Given the description of an element on the screen output the (x, y) to click on. 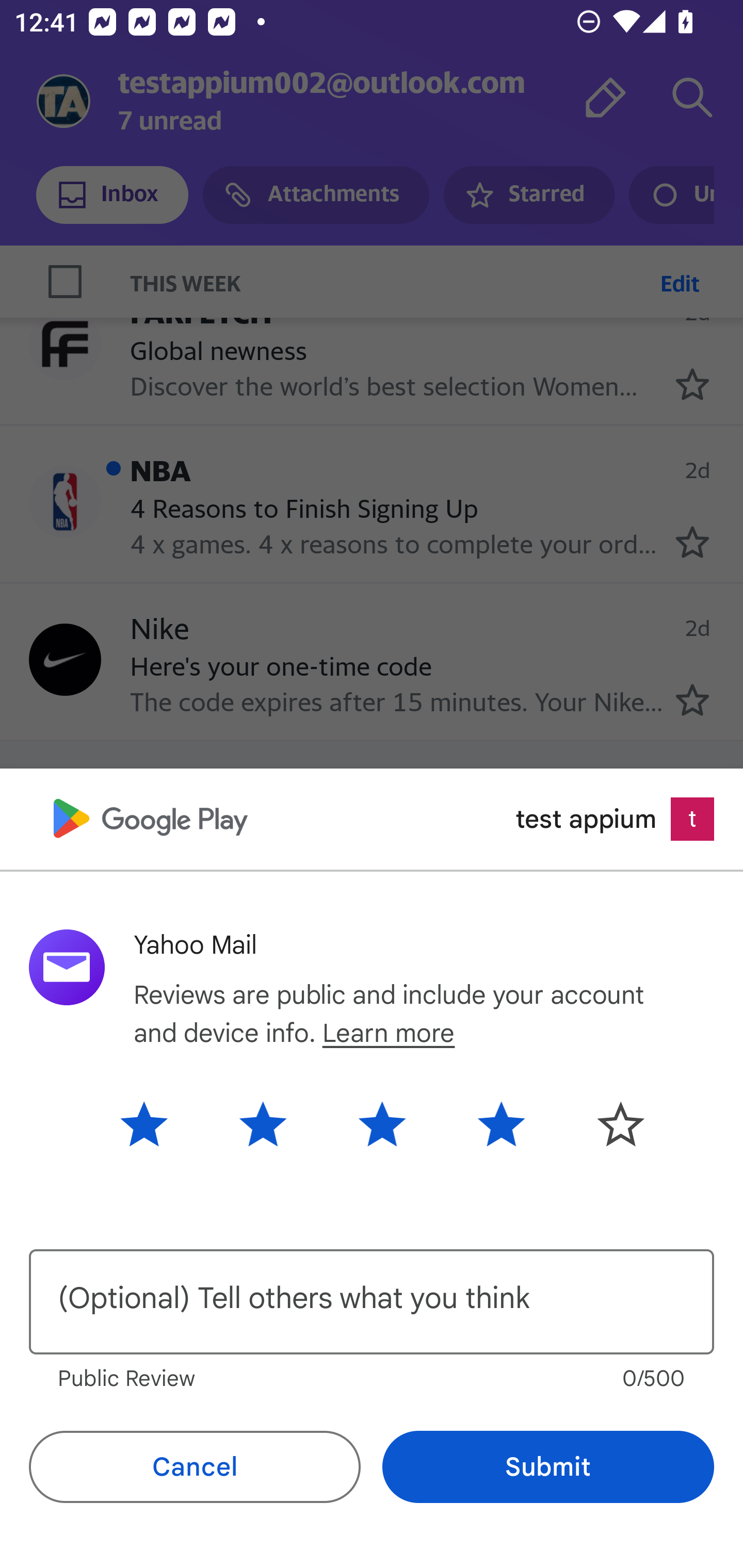
First star selected (159, 1123)
Second star selected (262, 1123)
Third star selected (381, 1123)
Fourth star selected (500, 1123)
Fifth star unselected (604, 1123)
(Optional) Tell others what you think (371, 1301)
Cancel (194, 1466)
Submit (548, 1466)
